Given the description of an element on the screen output the (x, y) to click on. 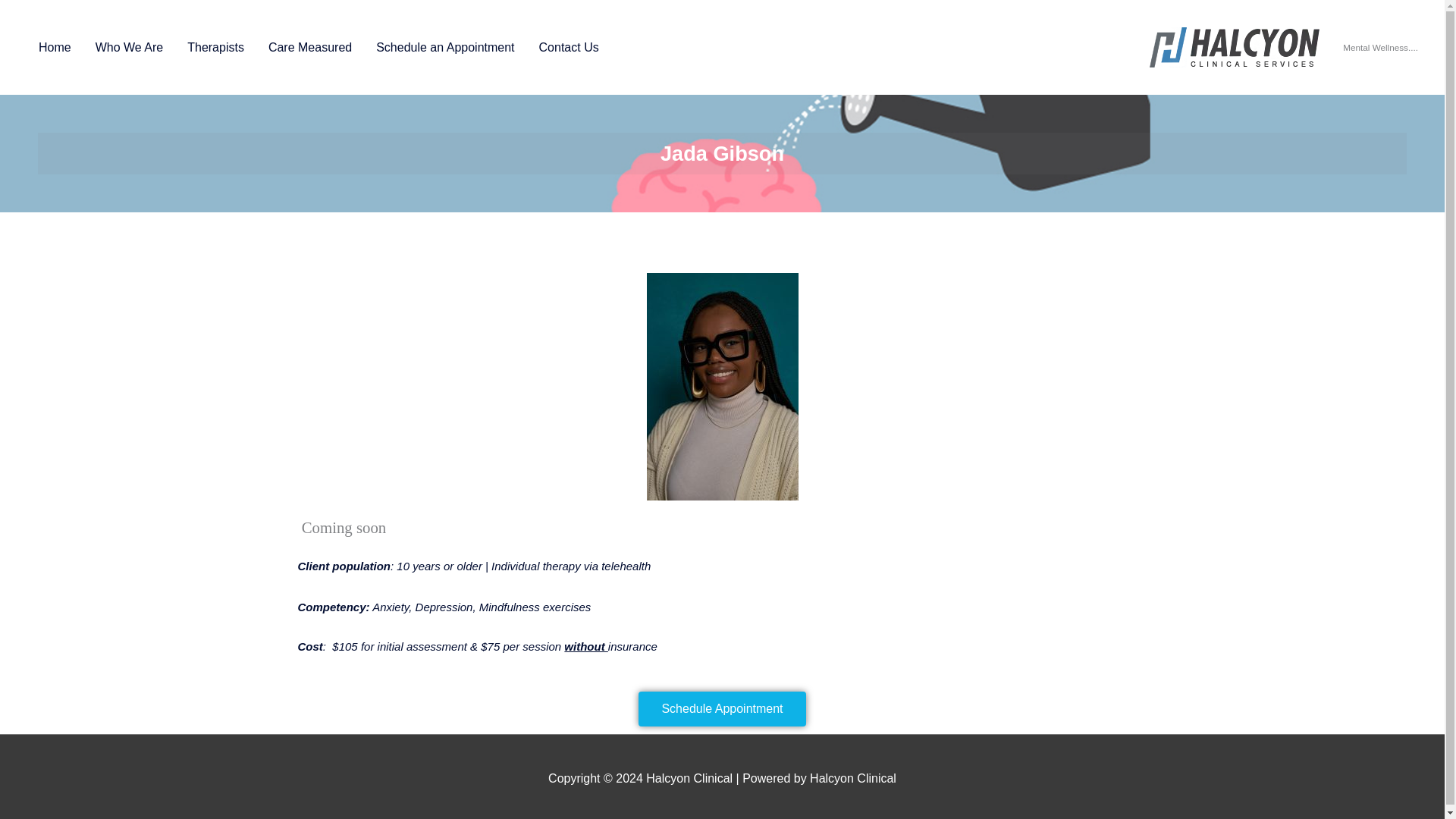
Home (54, 46)
Schedule Appointment (722, 728)
Care Measured (310, 46)
Therapists (215, 46)
Schedule an Appointment (444, 46)
Who We Are (129, 46)
Contact Us (569, 46)
